Given the description of an element on the screen output the (x, y) to click on. 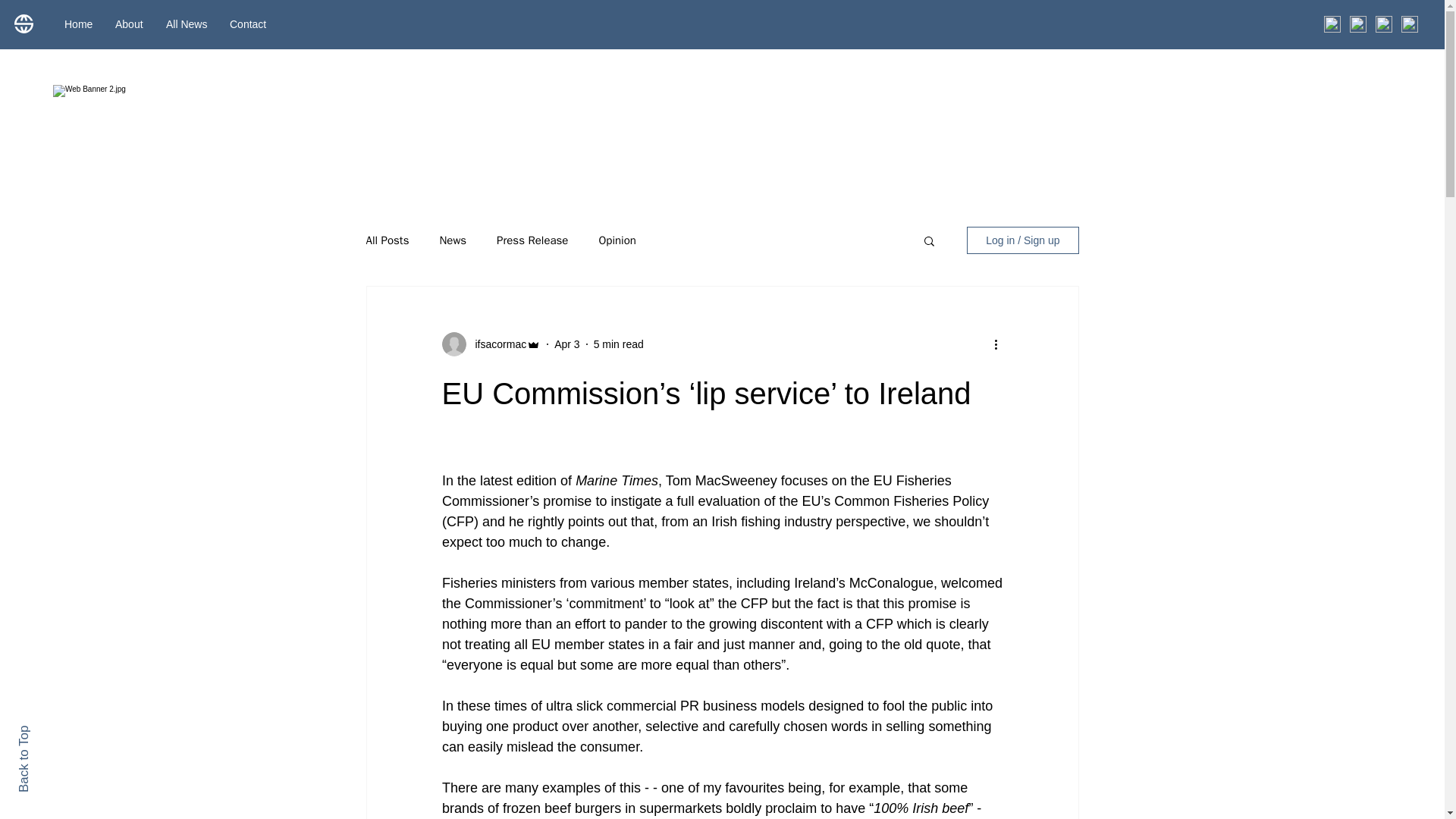
5 min read (618, 344)
All Posts (387, 240)
All News (186, 24)
Apr 3 (566, 344)
About (128, 24)
Home (77, 24)
Back to Top (50, 731)
Contact (248, 24)
News (452, 240)
ifsacormac (495, 344)
